Given the description of an element on the screen output the (x, y) to click on. 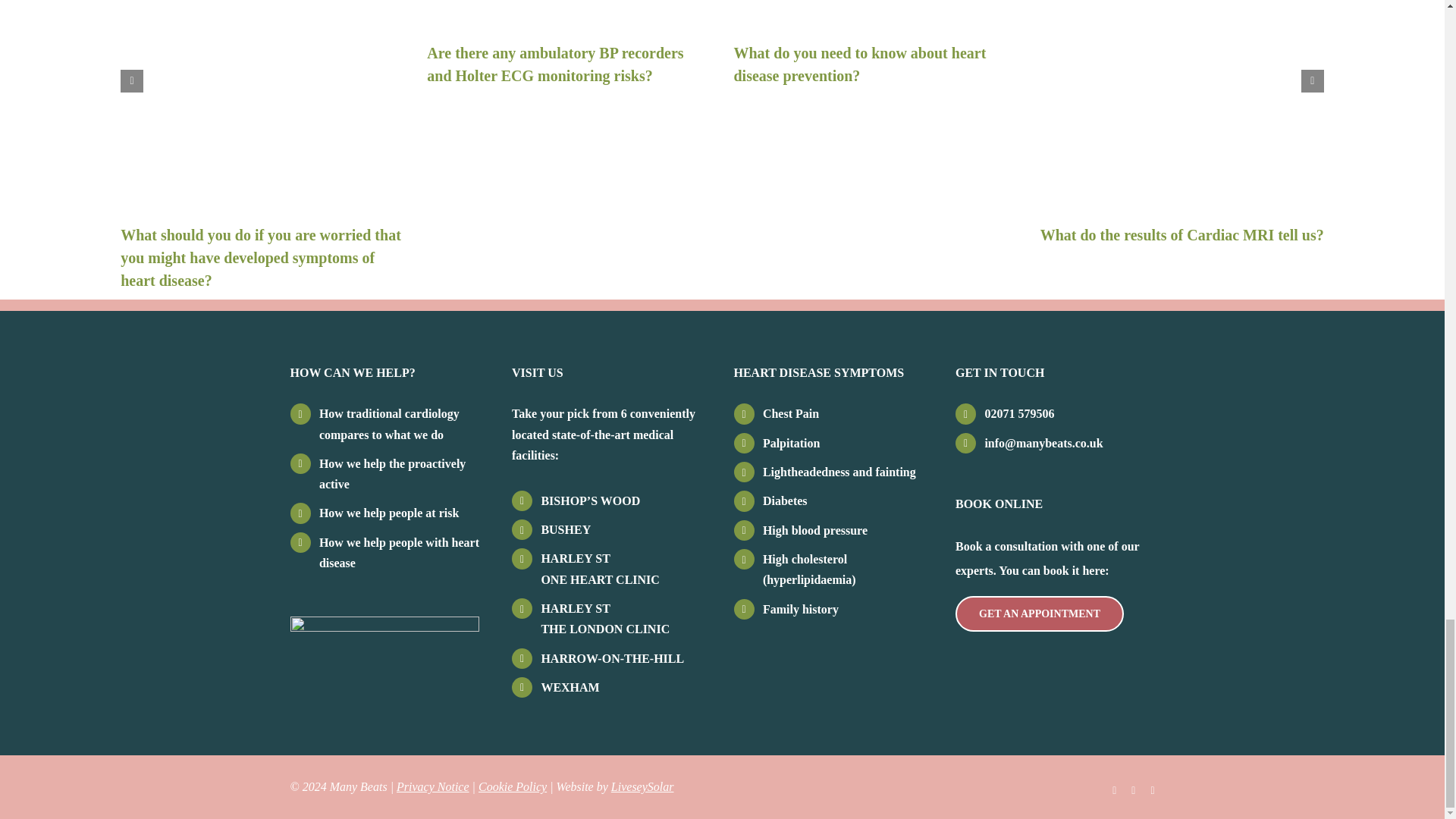
What do the results of Cardiac MRI tell us? (1182, 234)
What do you need to know about heart disease prevention? (859, 64)
